Given the description of an element on the screen output the (x, y) to click on. 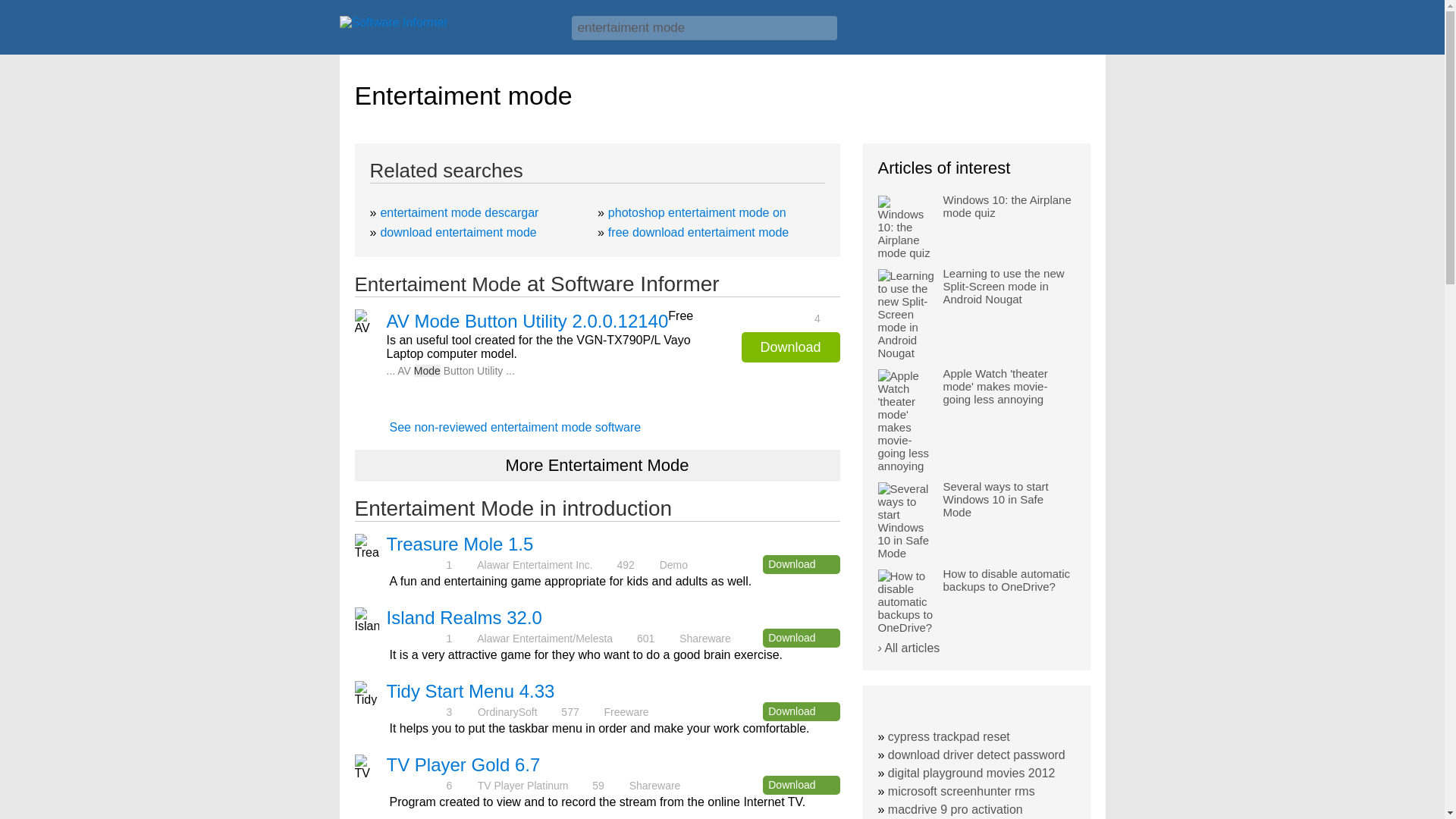
Software downloads and reviews (446, 25)
TV Player Gold 6.7 (463, 764)
Download (801, 784)
Island Realms 32.0 (464, 617)
Download (801, 564)
AV Mode Button Utility 2.0.0.12140 (527, 321)
4.2 (415, 785)
TV Player Gold 6.7 (463, 764)
4 (415, 637)
Windows (1070, 33)
Treasure Mole 1.5 (460, 543)
download entertaiment mode (457, 232)
entertaiment mode descargar (459, 212)
Tidy Start Menu 4.33 (470, 690)
